Given the description of an element on the screen output the (x, y) to click on. 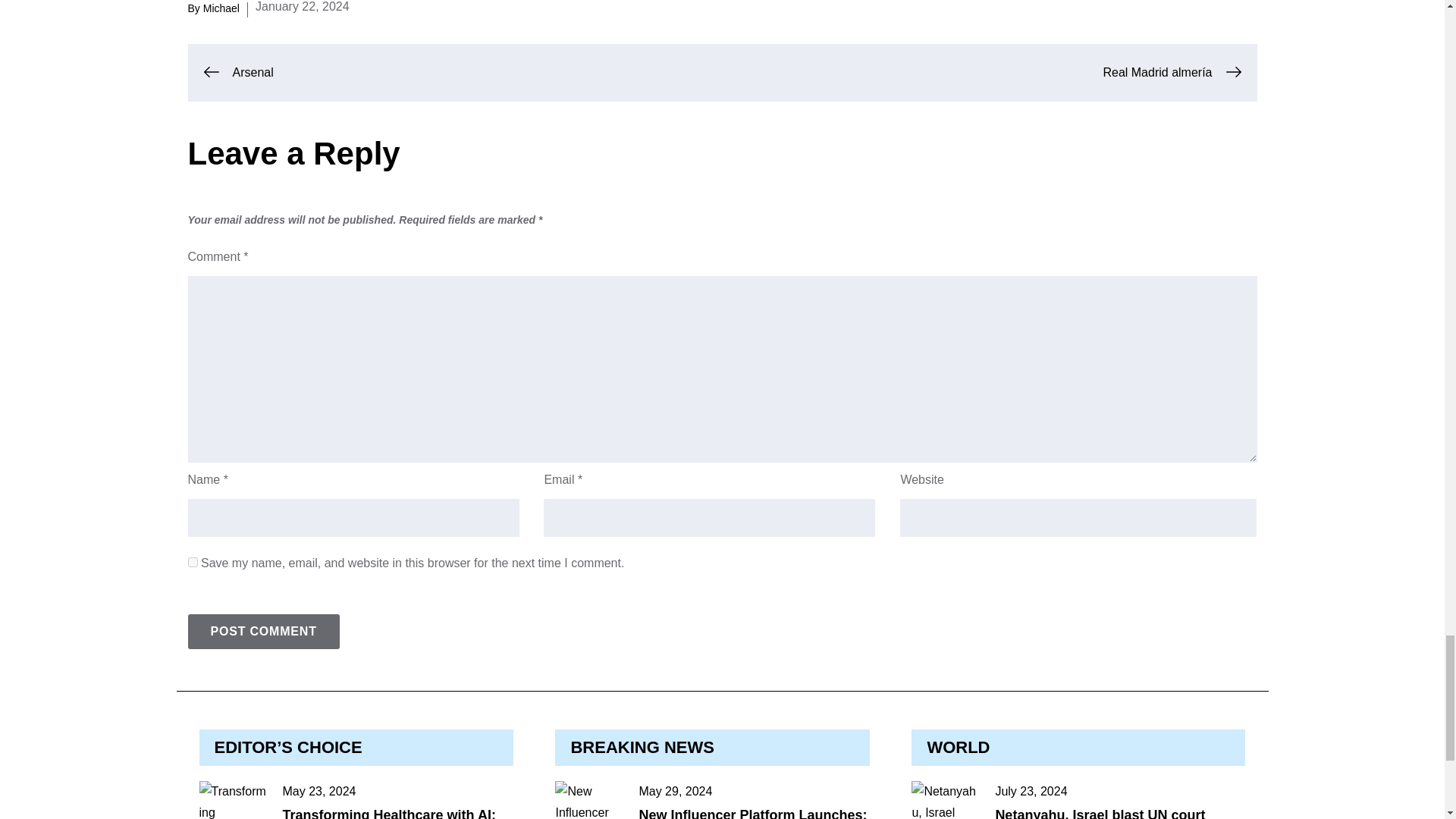
Post Comment (263, 631)
Michael (221, 8)
January 22, 2024 (302, 8)
Post Comment (263, 631)
yes (192, 562)
